Given the description of an element on the screen output the (x, y) to click on. 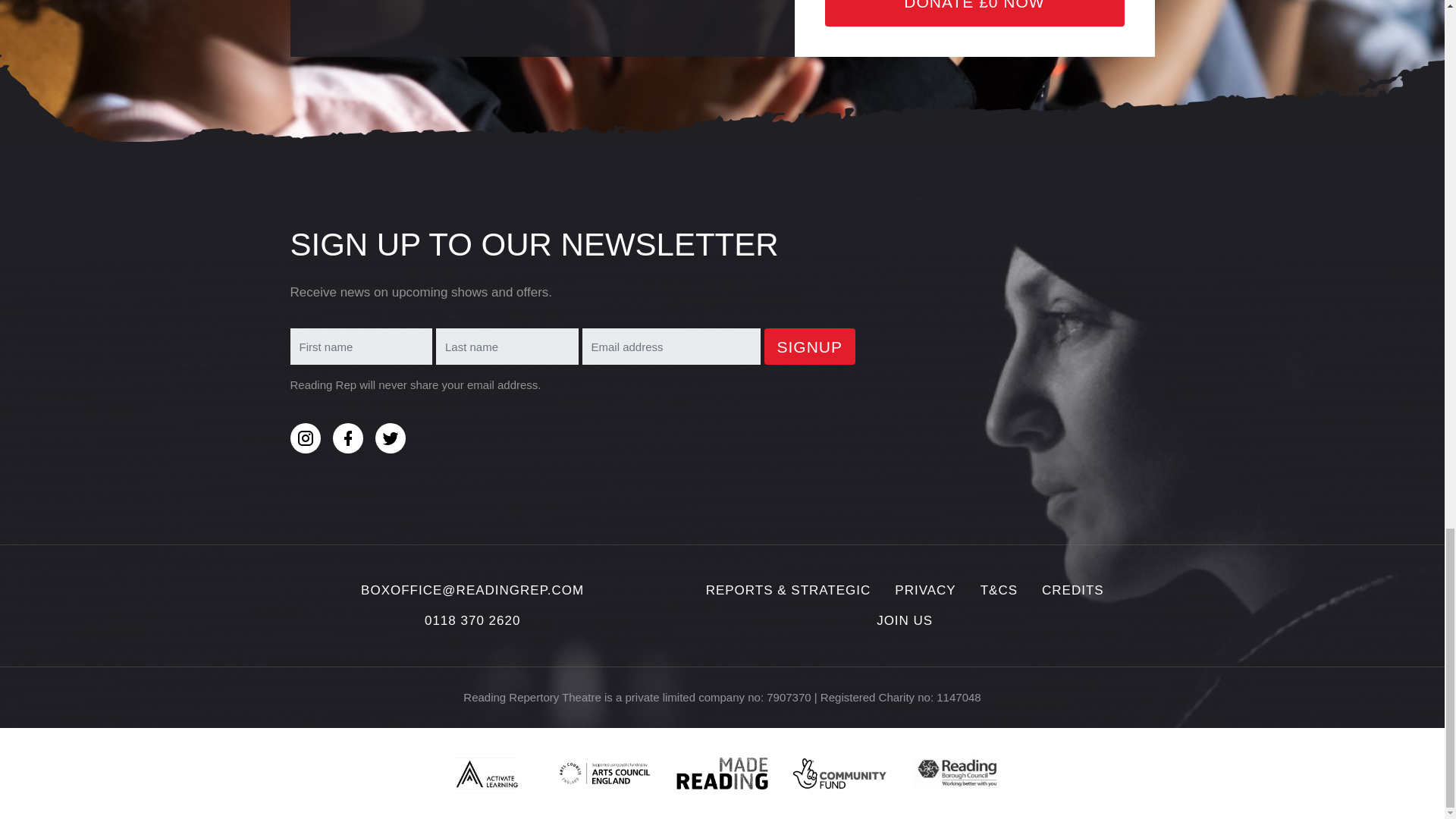
CREDITS (1072, 590)
0118 370 2620 (472, 620)
Signup (810, 346)
Signup (810, 346)
PRIVACY (925, 590)
JOIN US (904, 620)
